Given the description of an element on the screen output the (x, y) to click on. 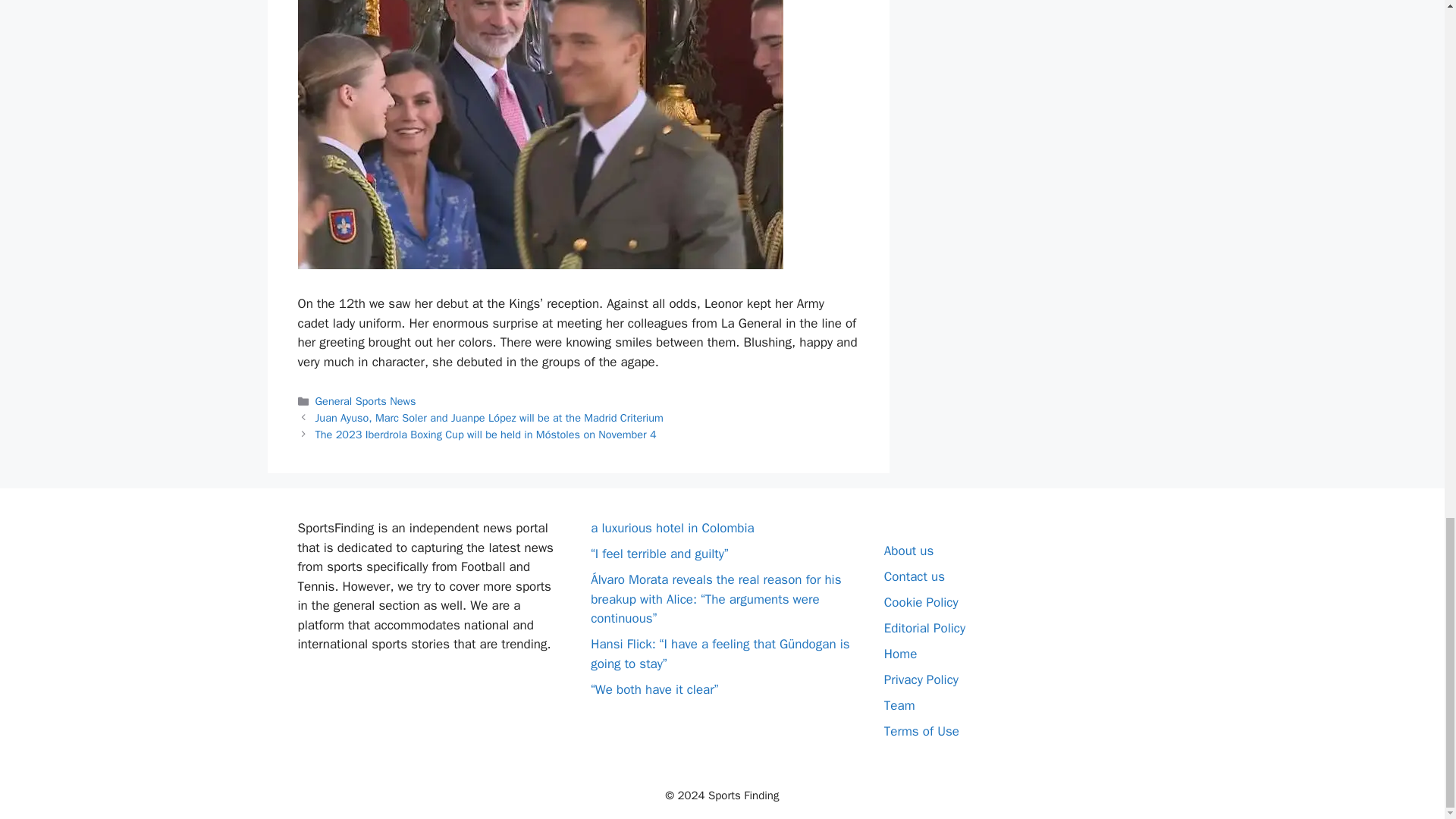
Scroll back to top (1406, 108)
Contact us (913, 576)
a luxurious hotel in Colombia (672, 528)
Cookie Policy (920, 602)
Home (900, 653)
General Sports News (365, 400)
Editorial Policy (924, 627)
About us (908, 550)
